Given the description of an element on the screen output the (x, y) to click on. 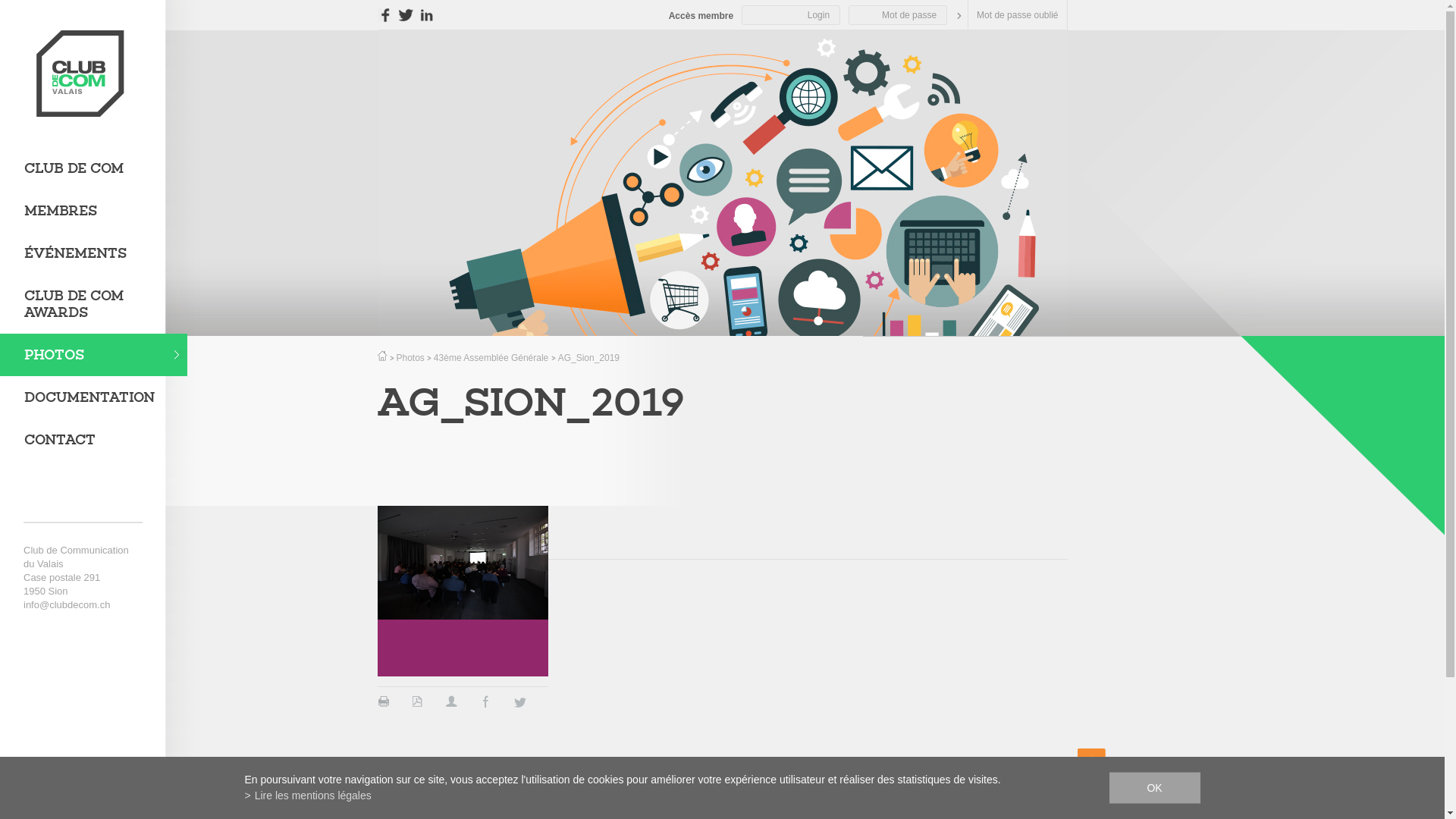
PHOTOS Element type: text (93, 354)
Photos Element type: text (409, 357)
CONTACT Element type: text (93, 439)
MEMBRES Element type: text (93, 210)
Retour au sommet Element type: hover (1090, 772)
CLUB DE COM Element type: text (93, 168)
info@clubdecom.ch Element type: text (66, 604)
CLUB DE COM AWARDS Element type: text (93, 303)
DOCUMENTATION Element type: text (93, 397)
OK Element type: text (1153, 787)
